Given the description of an element on the screen output the (x, y) to click on. 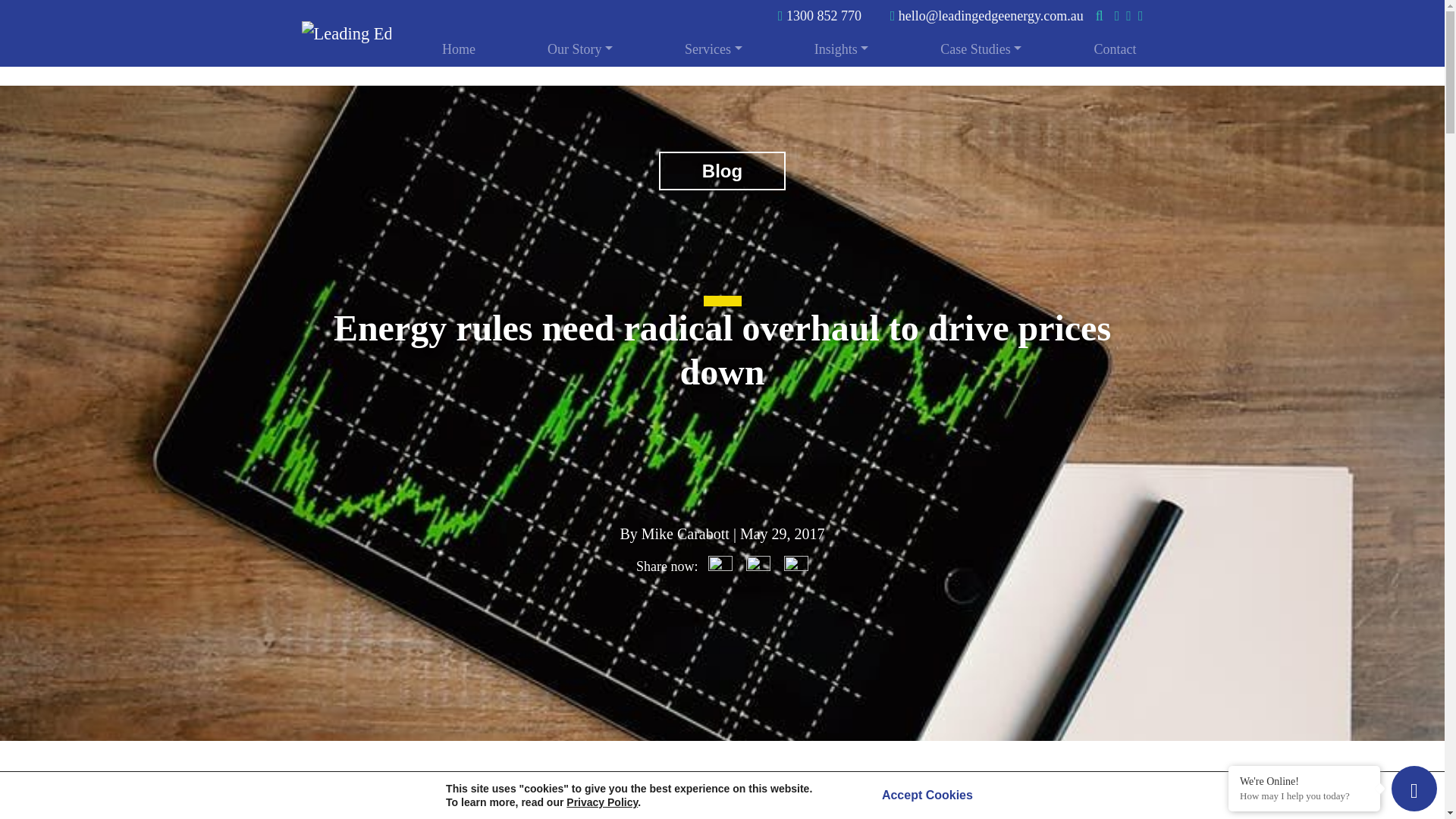
Insights (842, 48)
Home (458, 48)
Contact (1114, 48)
Our Story (580, 48)
Services (713, 48)
Insights (842, 48)
 1300 852 770 (819, 15)
Our Story (580, 48)
Home (458, 48)
Case Studies (980, 48)
Blog (722, 170)
Services (713, 48)
